Given the description of an element on the screen output the (x, y) to click on. 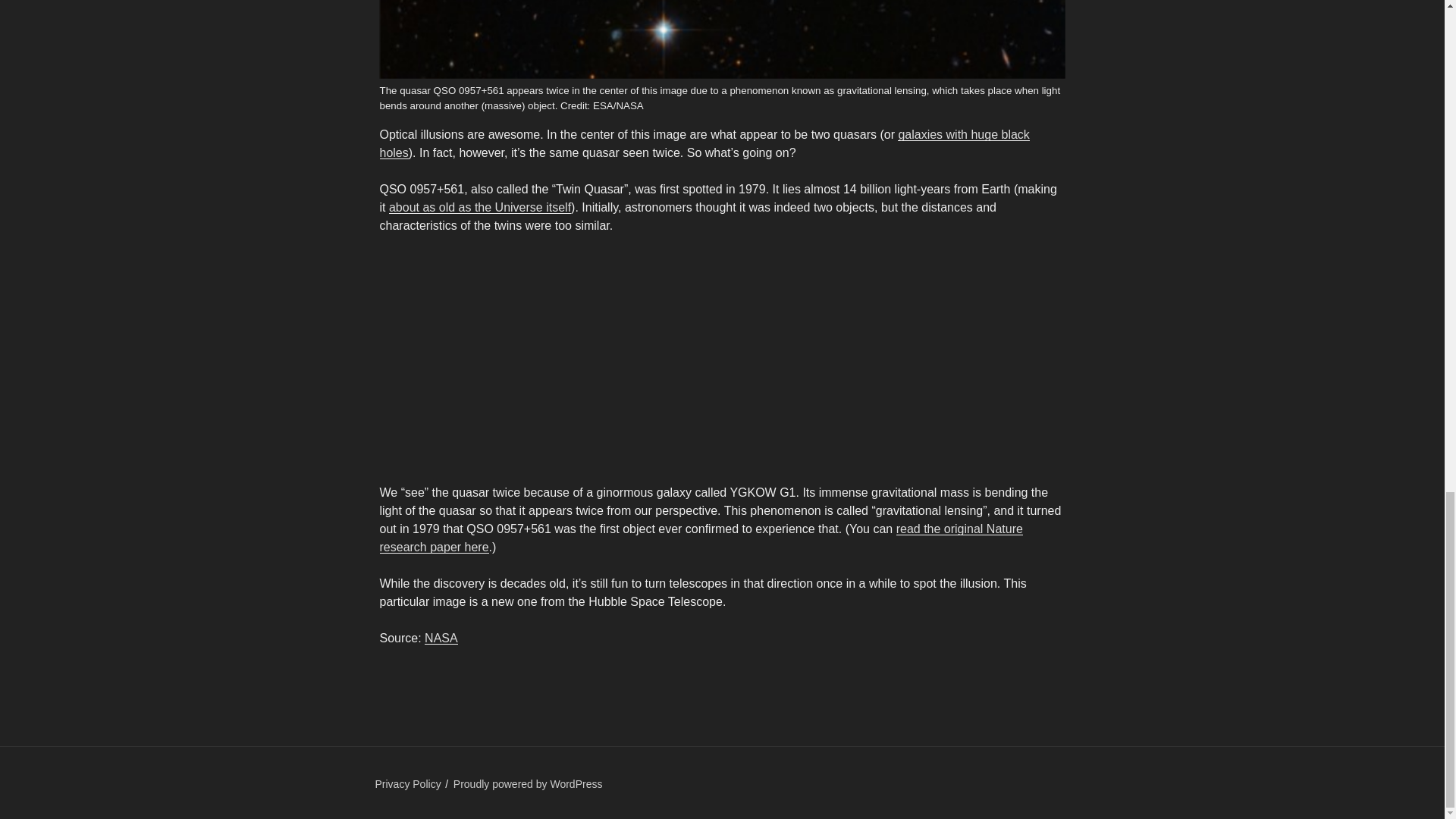
galaxies with huge black holes (703, 142)
about as old as the Universe itself (479, 206)
read the original Nature research paper here (700, 537)
Proudly powered by WordPress (527, 784)
NASA (441, 637)
Privacy Policy (407, 784)
